Given the description of an element on the screen output the (x, y) to click on. 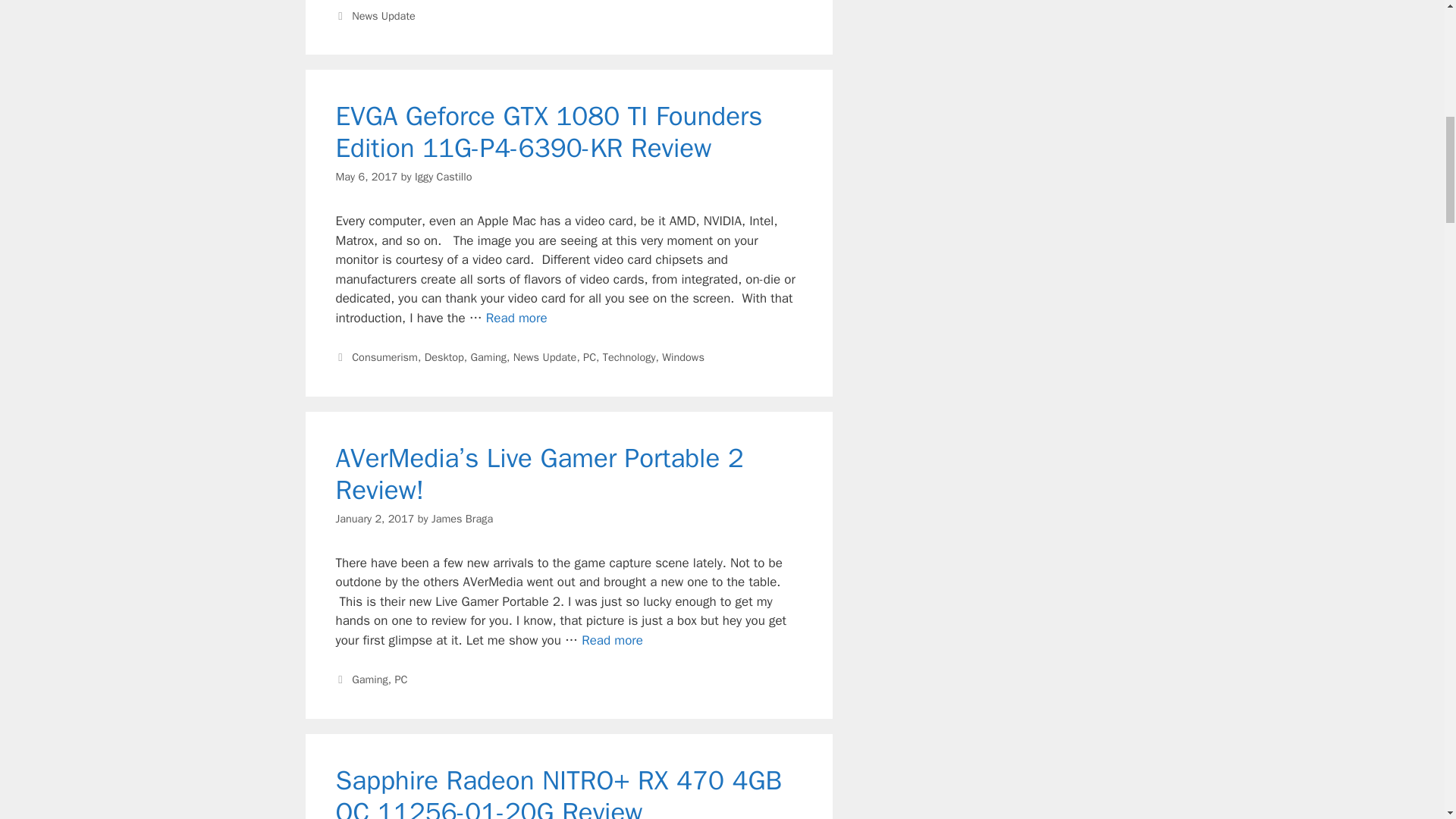
View all posts by James Braga (461, 518)
View all posts by Iggy Castillo (442, 176)
